Given the description of an element on the screen output the (x, y) to click on. 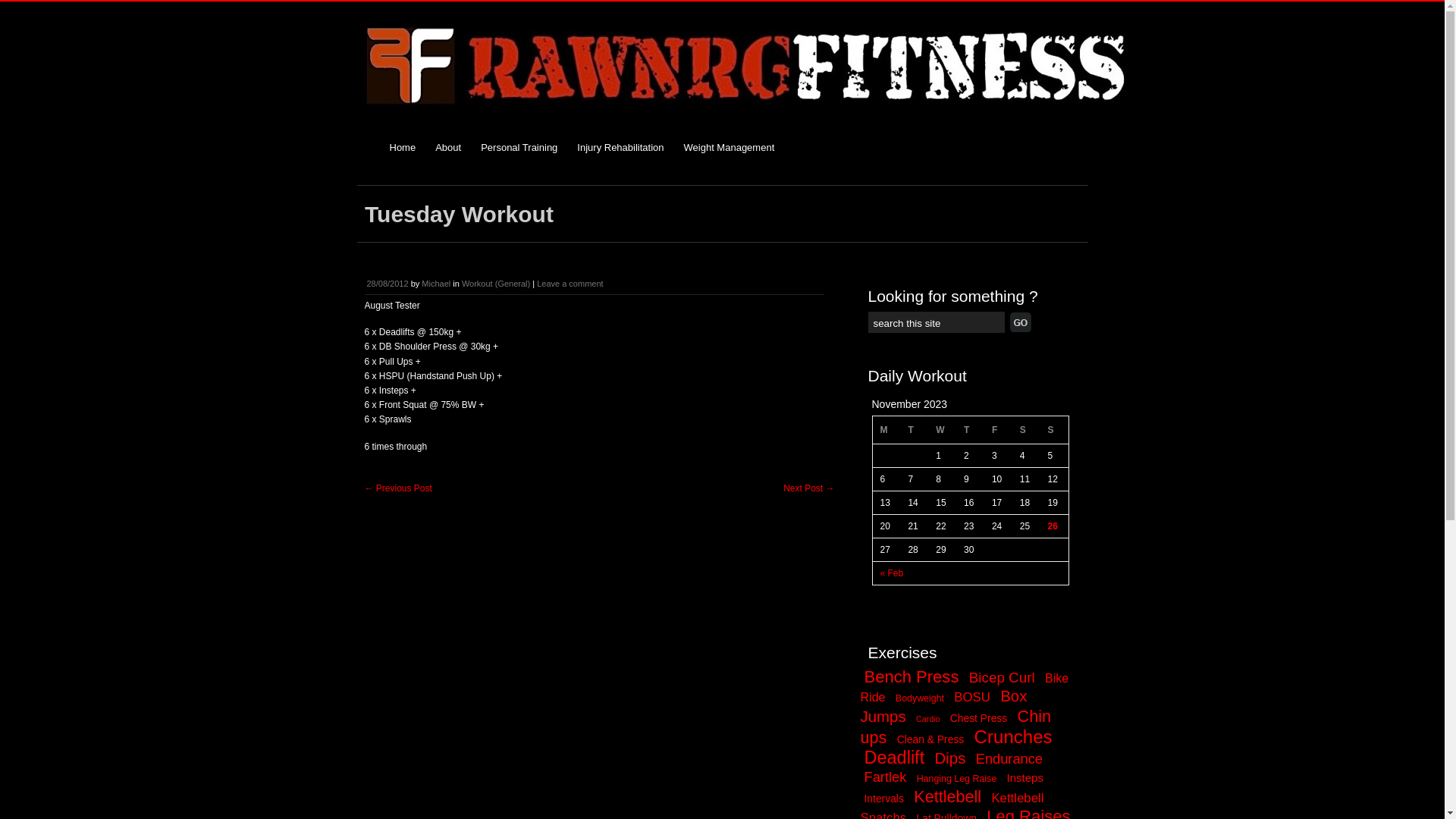
Cardio Element type: text (927, 718)
Box Jumps Element type: text (942, 705)
Endurance Element type: text (1008, 758)
Injury Rehabilitation Element type: text (620, 147)
Hanging Leg Raise Element type: text (956, 778)
Home Element type: text (402, 147)
Bike Ride Element type: text (963, 687)
BOSU Element type: text (971, 697)
Kettlebell Element type: text (947, 796)
Personal Training Element type: text (518, 147)
Bench Press Element type: text (911, 676)
Fartlek Element type: text (885, 776)
Leave a comment Element type: text (569, 283)
Intervals Element type: text (883, 798)
28/08/2012 Element type: text (387, 283)
Dips Element type: text (950, 757)
Crunches Element type: text (1013, 736)
Bodyweight Element type: text (919, 698)
Chin ups Element type: text (955, 726)
Bicep Curl Element type: text (1002, 677)
Deadlift Element type: text (894, 757)
Clean & Press Element type: text (930, 739)
About Element type: text (447, 147)
Chest Press Element type: text (978, 718)
Michael Element type: text (435, 283)
Weight Management Element type: text (729, 147)
Insteps Element type: text (1025, 777)
Workout (General) Element type: text (495, 283)
